Given the description of an element on the screen output the (x, y) to click on. 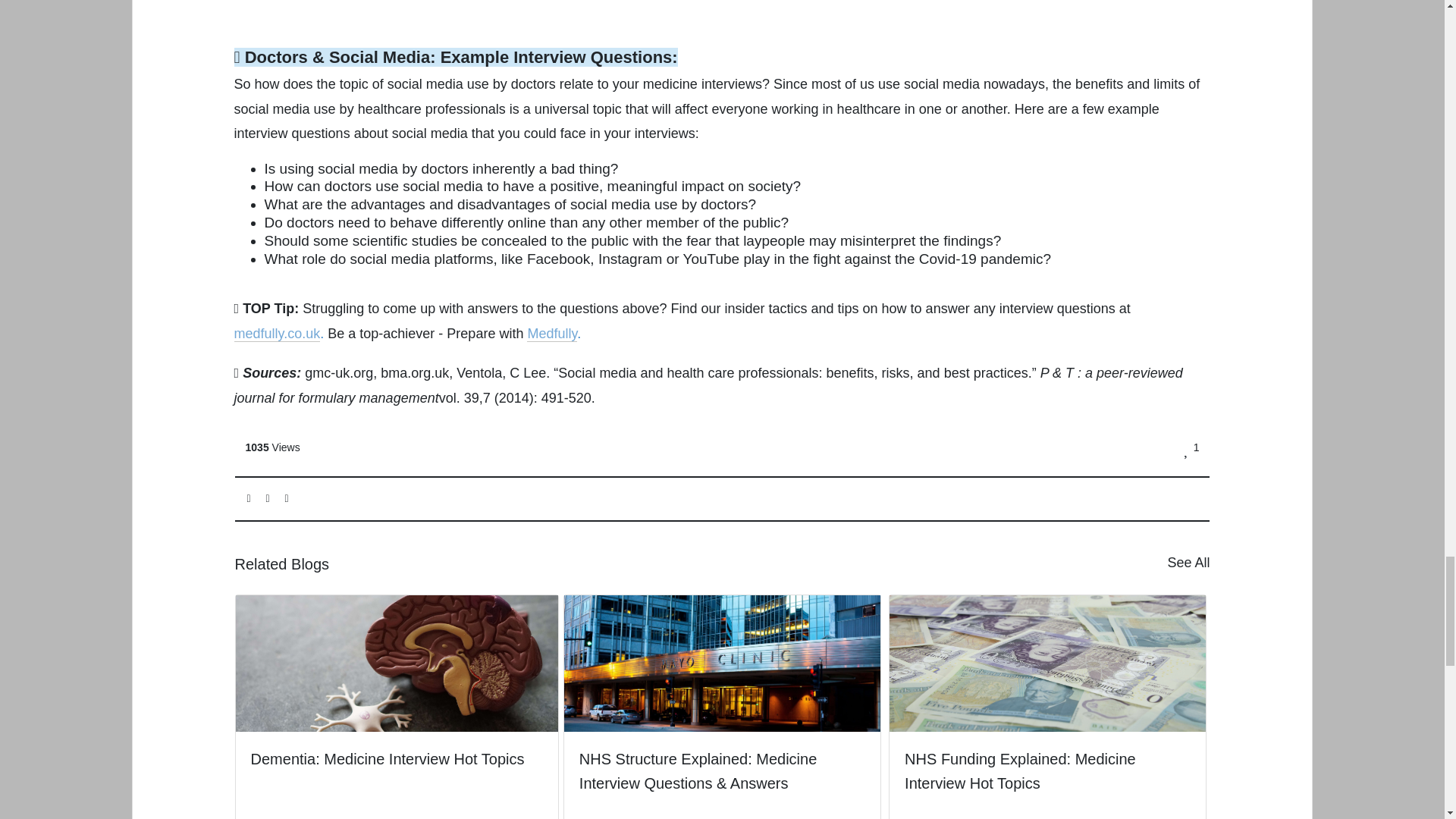
See All (1188, 562)
NHS Funding Explained: Medicine Interview Hot Topics (1047, 707)
medfully.co.uk (277, 333)
Medfully (551, 333)
Dementia: Medicine Interview Hot Topics (396, 695)
bma.org.uk (414, 372)
gmc-uk.org (338, 372)
